Given the description of an element on the screen output the (x, y) to click on. 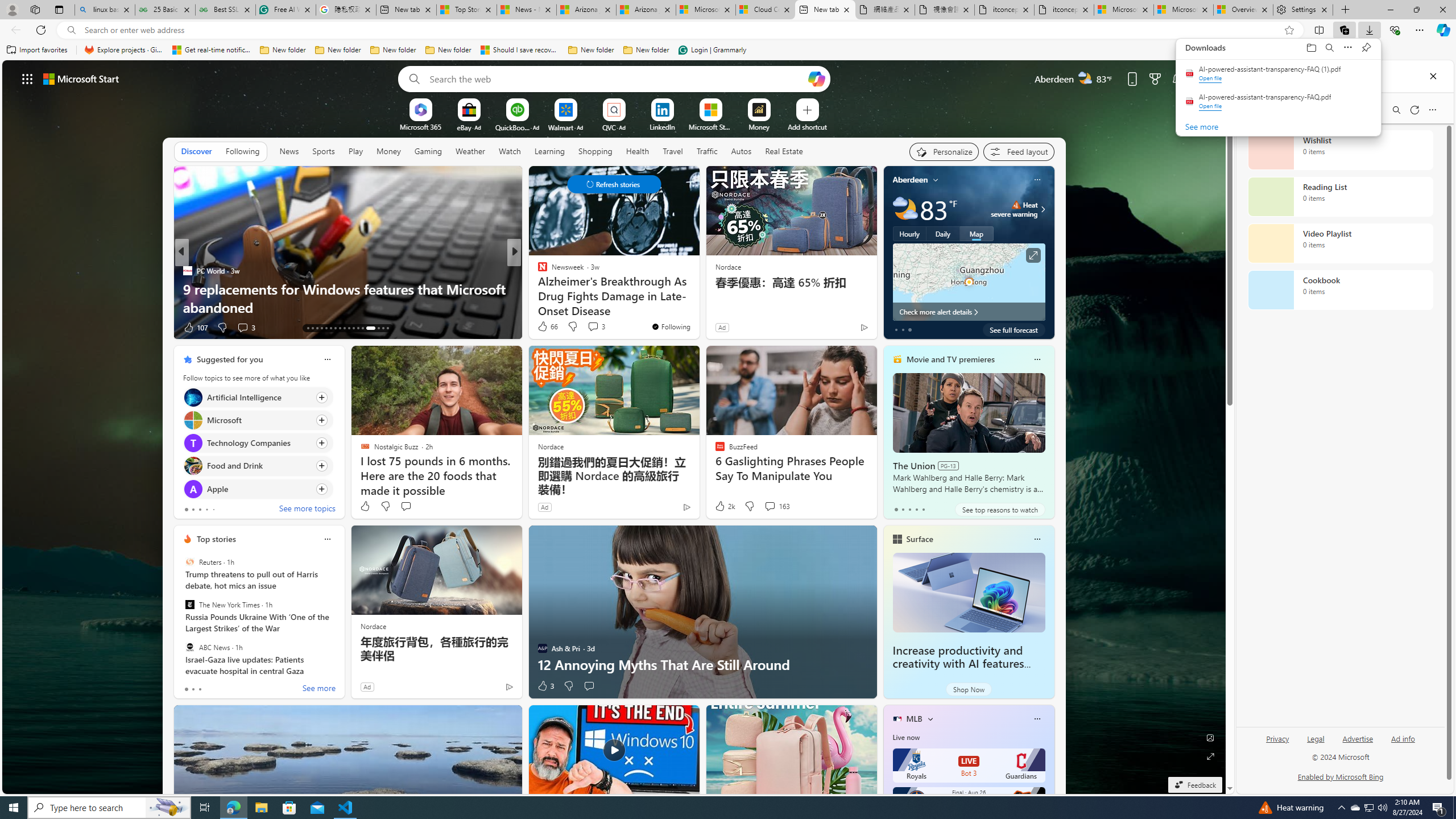
2k Like (724, 505)
Artificial Intelligence (192, 397)
Class: icon-img (1037, 718)
LinkedIn (662, 126)
AutomationID: waffle (27, 78)
Like (364, 505)
Traffic (706, 151)
Wishlist collection, 0 items (1339, 150)
Reuters (189, 561)
